Given the description of an element on the screen output the (x, y) to click on. 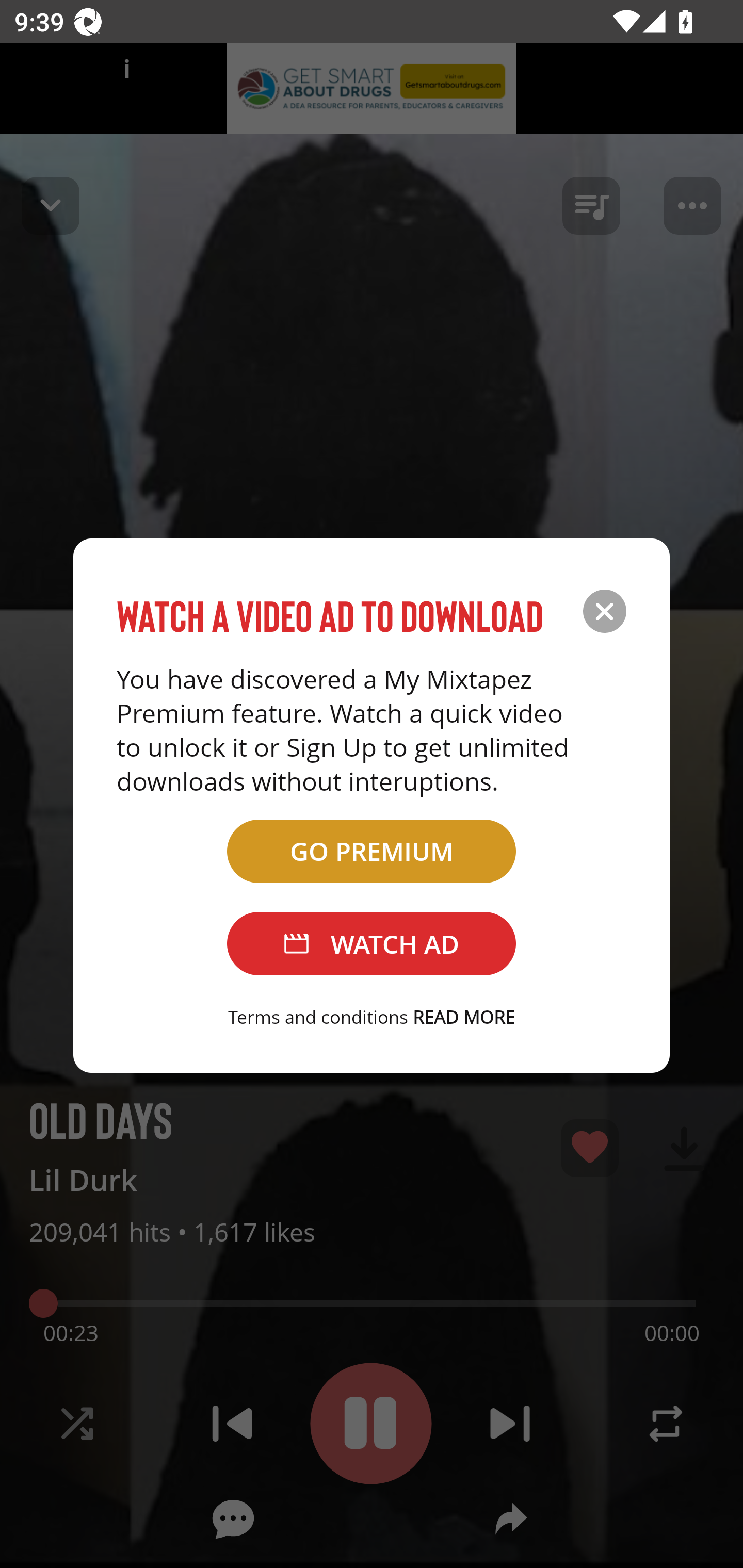
GO PREMIUM (371, 851)
WATCH AD (371, 943)
Terms and conditions READ MORE (371, 1016)
